Given the description of an element on the screen output the (x, y) to click on. 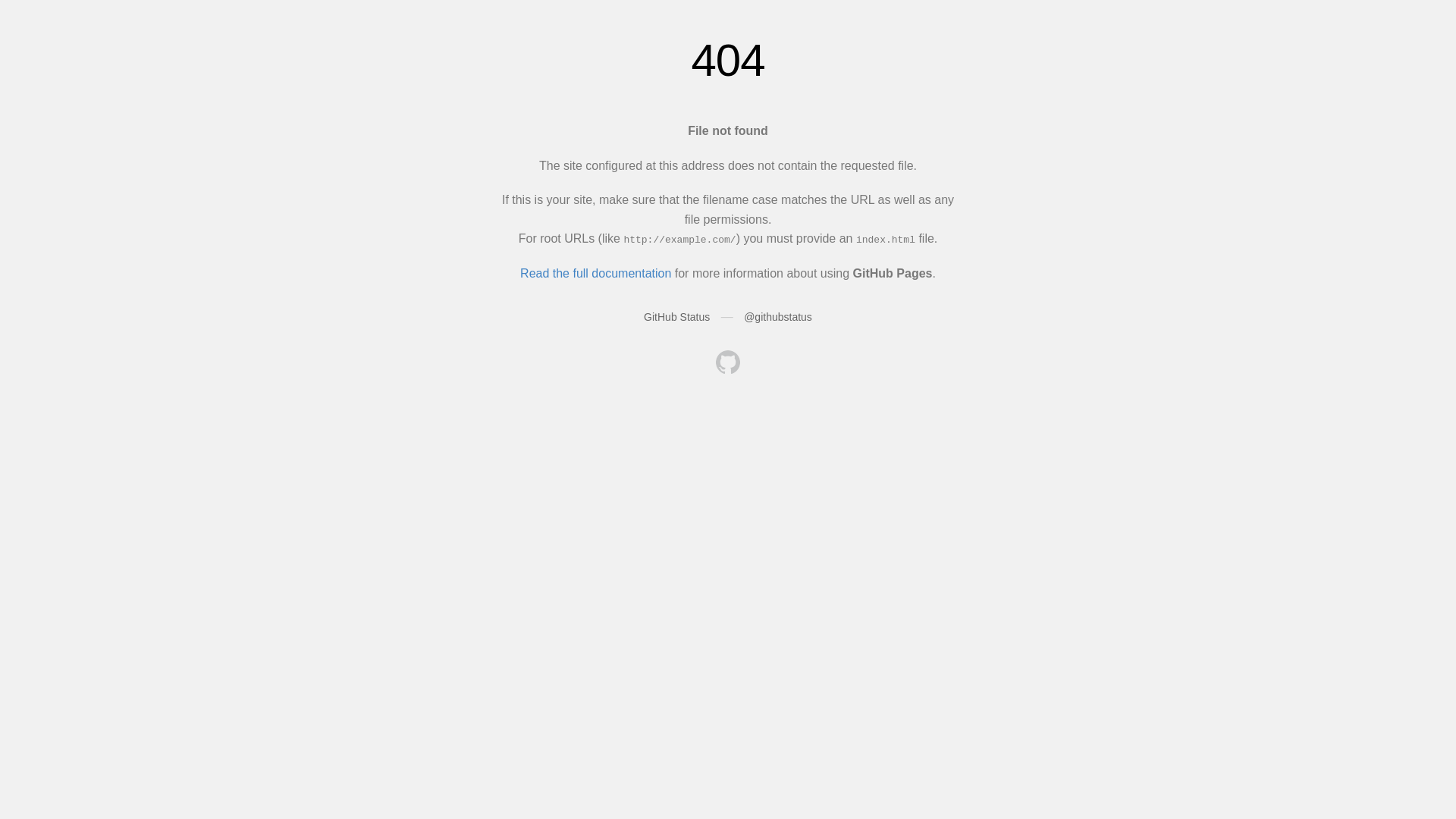
GitHub Status Element type: text (676, 316)
@githubstatus Element type: text (777, 316)
Read the full documentation Element type: text (595, 272)
